Given the description of an element on the screen output the (x, y) to click on. 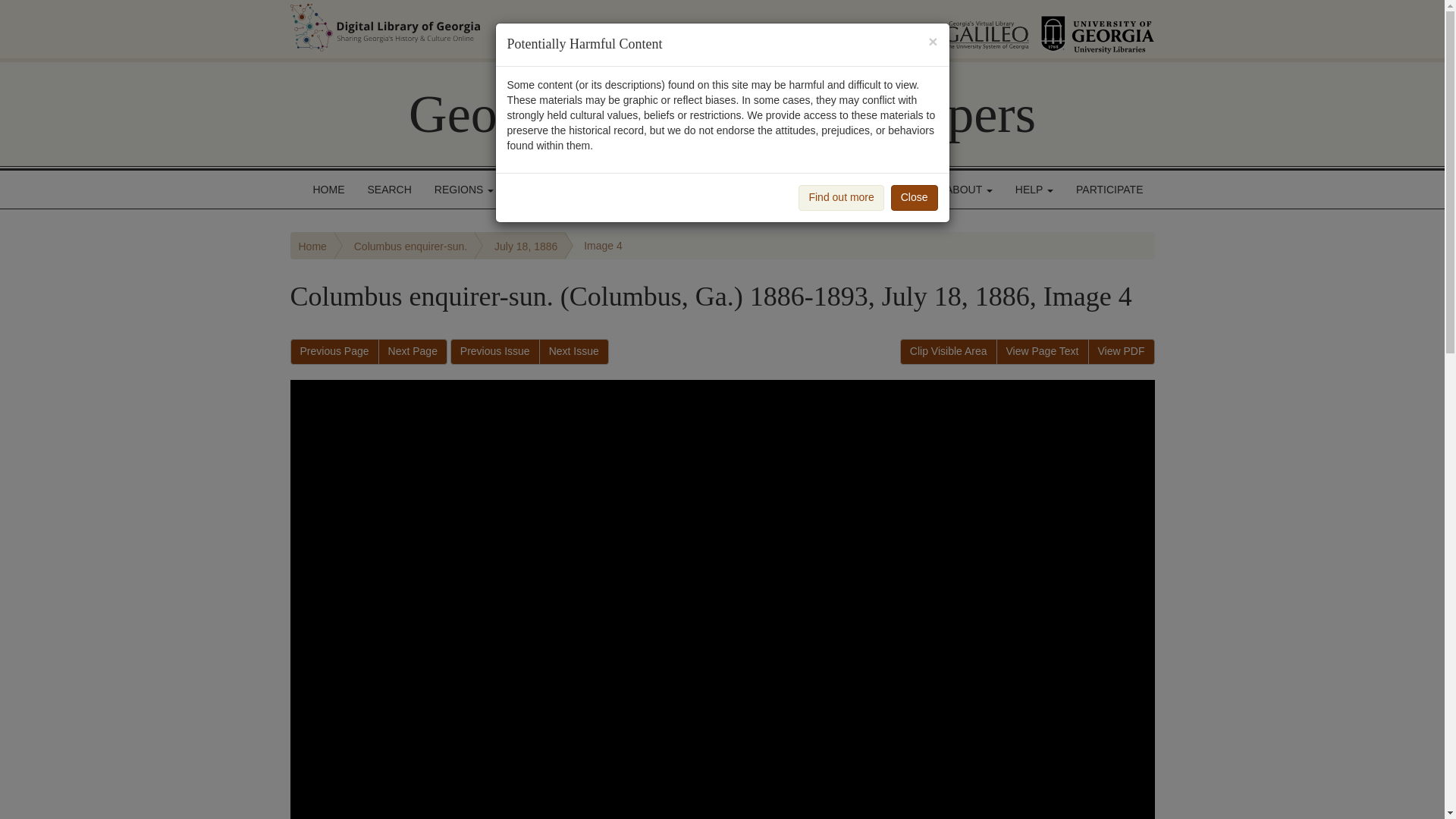
ABOUT (969, 189)
BROWSE (545, 189)
Home (311, 245)
HELP (1034, 189)
GALILEO Homepage Link (968, 29)
SEARCH (389, 189)
PARTICIPATE (1109, 189)
NEWS (901, 189)
GHNP Homepage (722, 114)
UGA Libraries Homepage Link (1097, 29)
REGIONS (464, 189)
DLG Homepage Link (536, 27)
Georgia Historic Newspapers (722, 114)
